Given the description of an element on the screen output the (x, y) to click on. 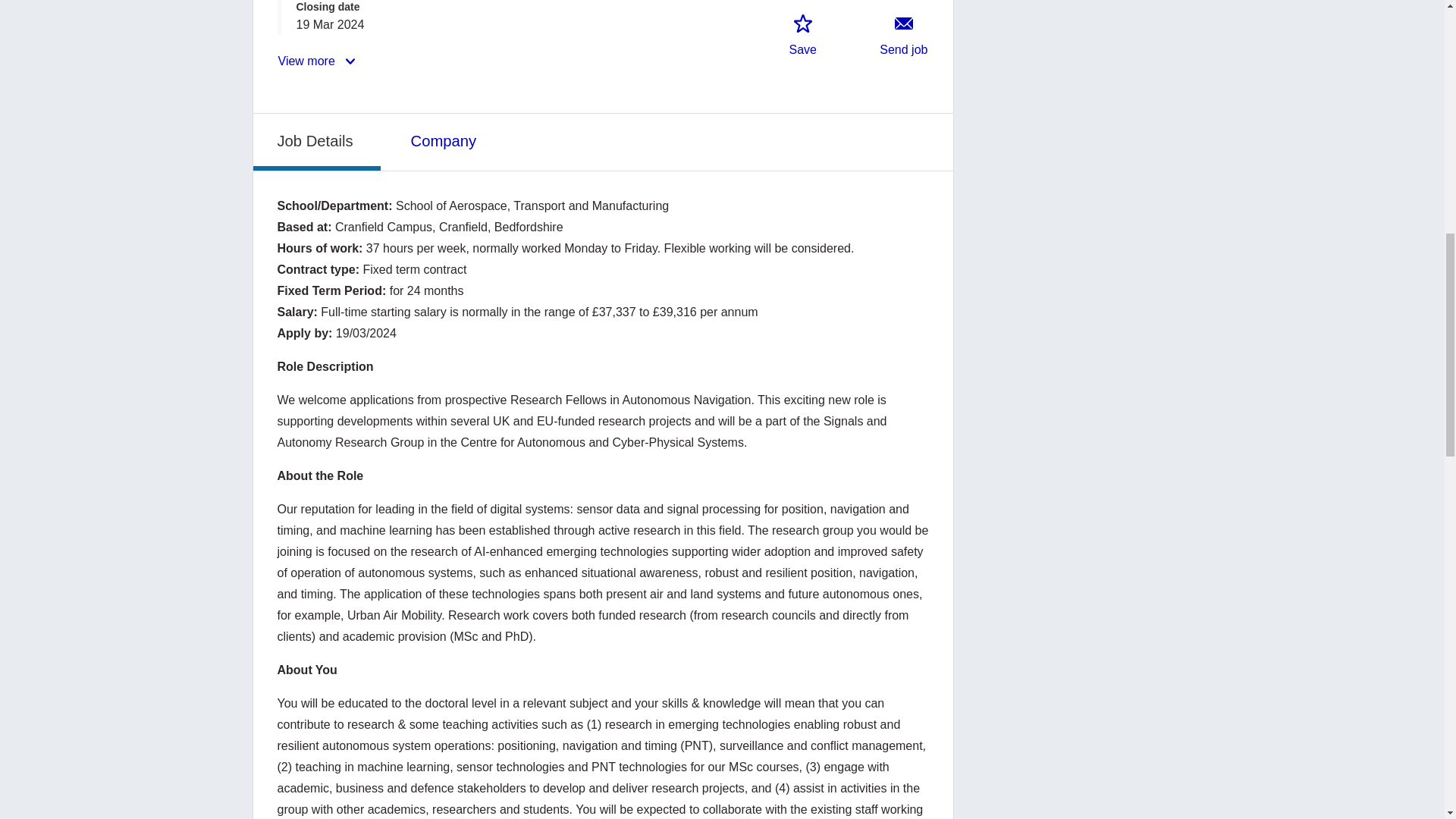
3rd party ad content (1080, 612)
Company (445, 139)
3rd party ad content (1080, 709)
3rd party ad content (1080, 515)
3rd party ad content (1080, 790)
Job Details (316, 141)
View more (318, 61)
